Given the description of an element on the screen output the (x, y) to click on. 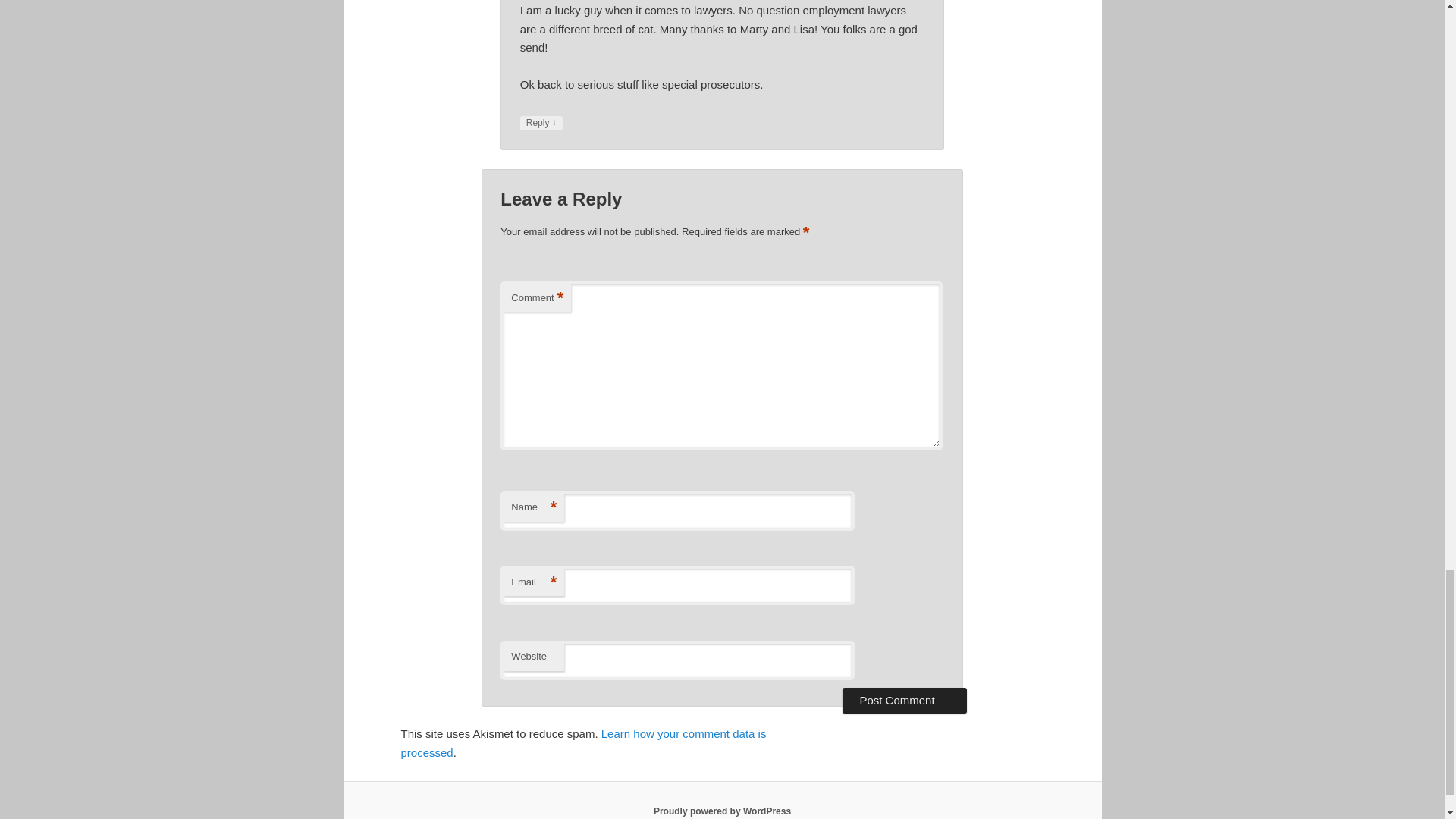
Post Comment (904, 700)
Learn how your comment data is processed (582, 742)
Proudly powered by WordPress (721, 810)
Semantic Personal Publishing Platform (721, 810)
Post Comment (904, 700)
